Given the description of an element on the screen output the (x, y) to click on. 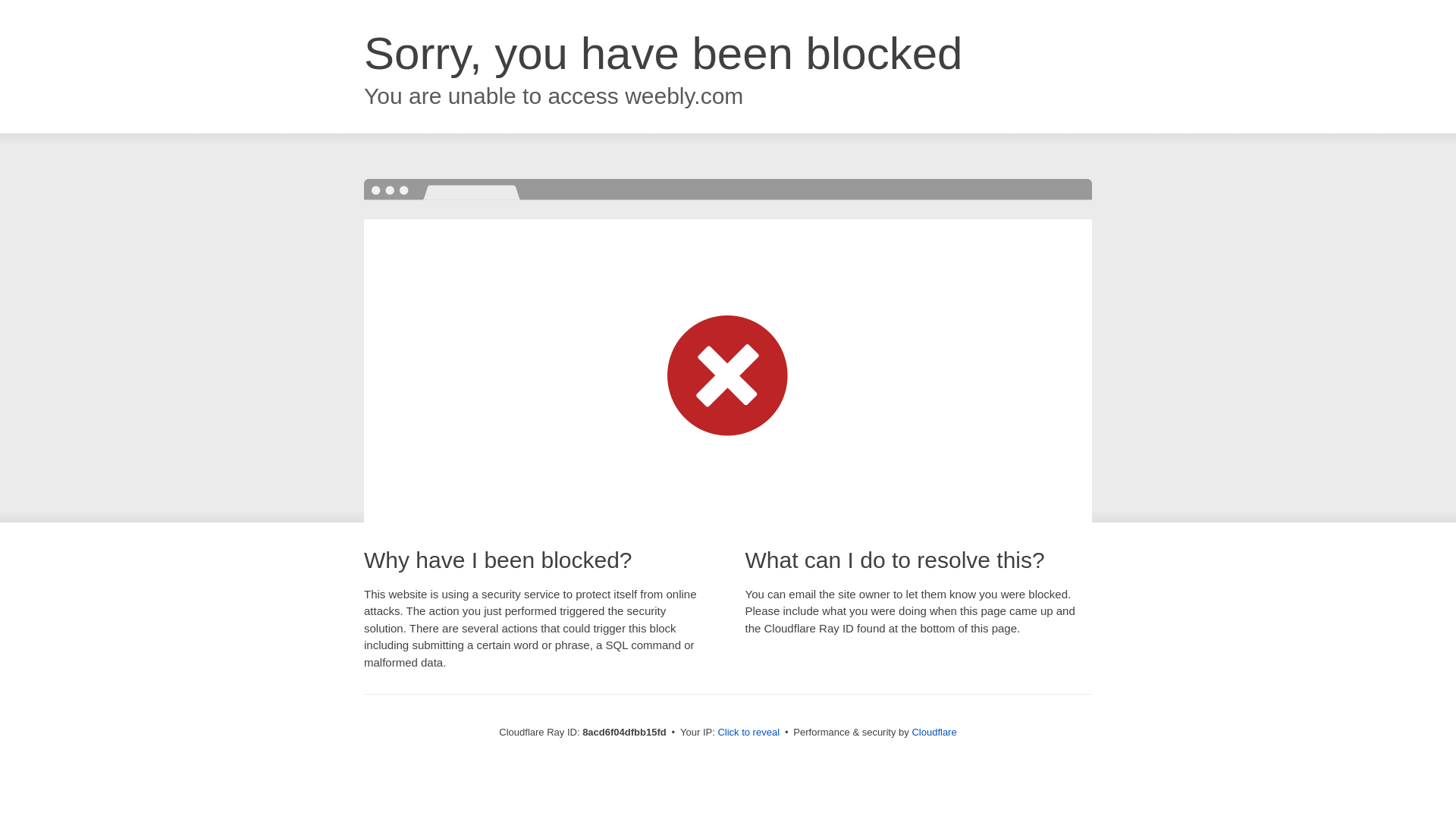
Cloudflare (933, 731)
Click to reveal (747, 732)
